Given the description of an element on the screen output the (x, y) to click on. 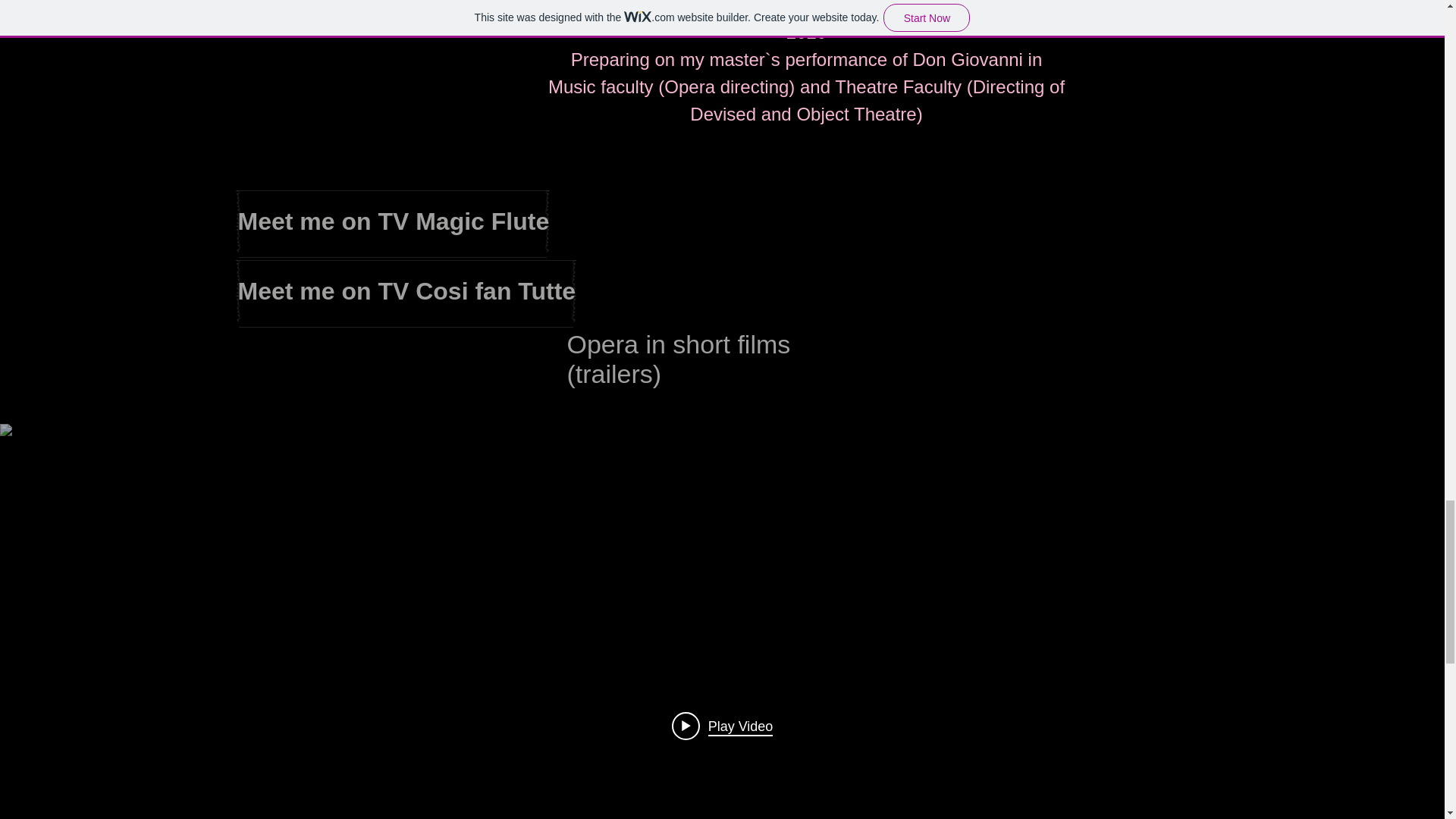
Play Video (722, 726)
Meet me on TV Magic Flute (394, 221)
Meet me on TV Cosi fan Tutte (407, 291)
